Given the description of an element on the screen output the (x, y) to click on. 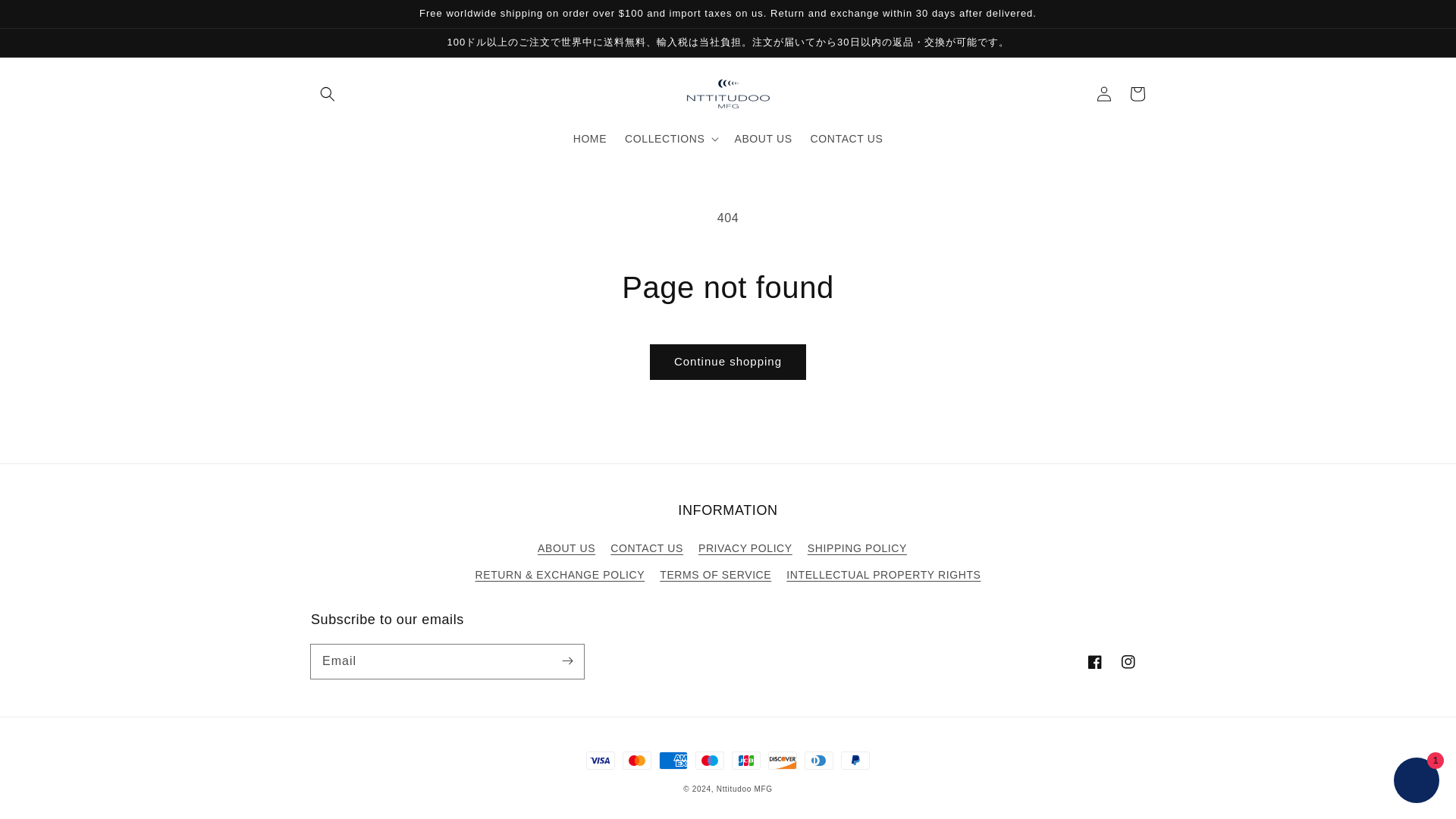
CONTACT US (847, 138)
HOME (589, 138)
Continue shopping (727, 361)
CONTACT US (646, 548)
Skip to content (45, 16)
Log in (1104, 93)
SHIPPING POLICY (857, 548)
Shopify online store chat (1416, 781)
ABOUT US (566, 549)
Cart (1137, 93)
ABOUT US (762, 138)
PRIVACY POLICY (745, 548)
